Given the description of an element on the screen output the (x, y) to click on. 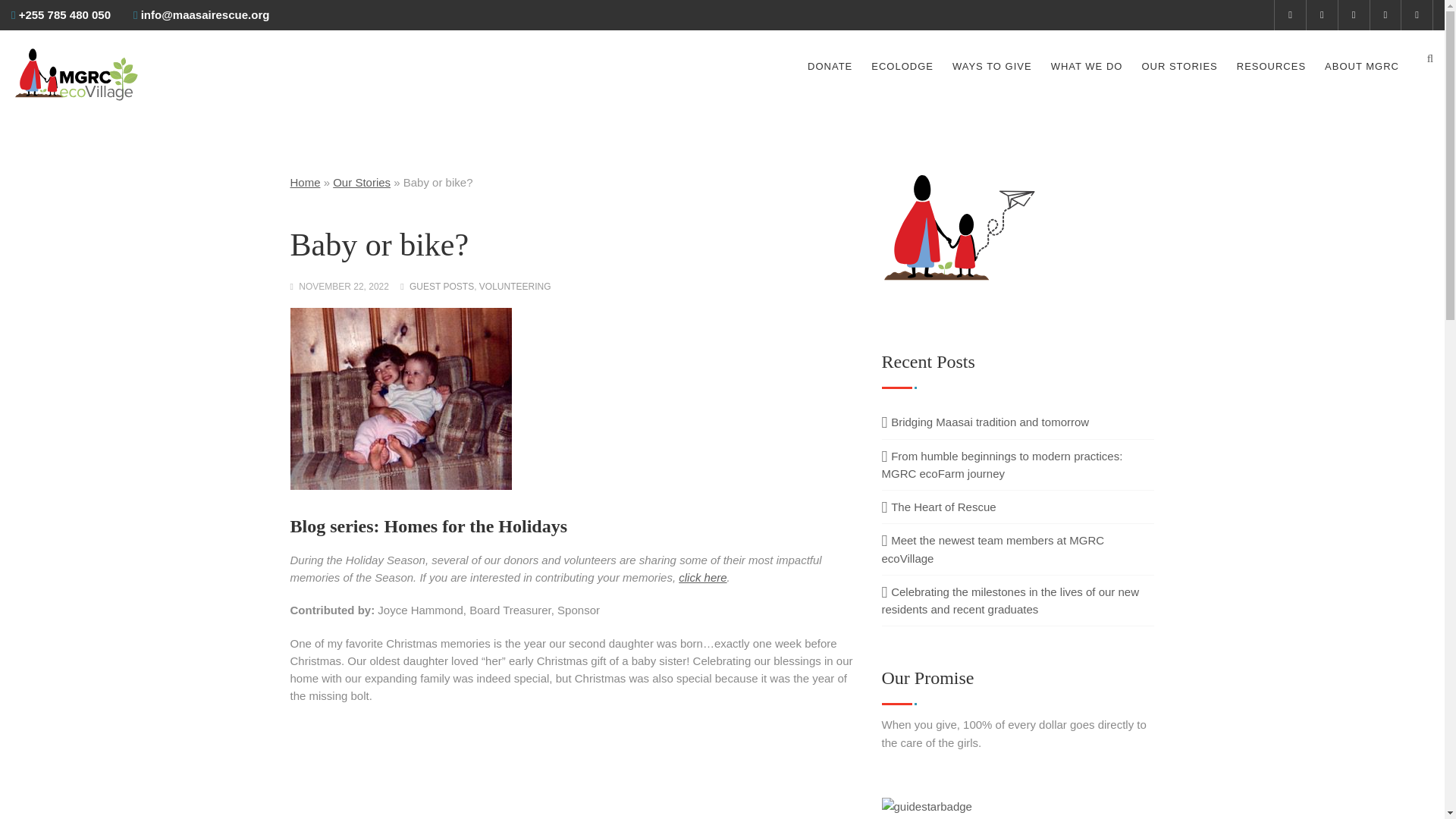
ABOUT MGRC (1361, 66)
ECOLODGE (901, 66)
GUEST POSTS (441, 286)
VOLUNTEERING (515, 286)
Home (304, 182)
WHAT WE DO (1086, 66)
RESOURCES (1271, 66)
OUR STORIES (1179, 66)
click here (702, 576)
DONATE (829, 66)
